Given the description of an element on the screen output the (x, y) to click on. 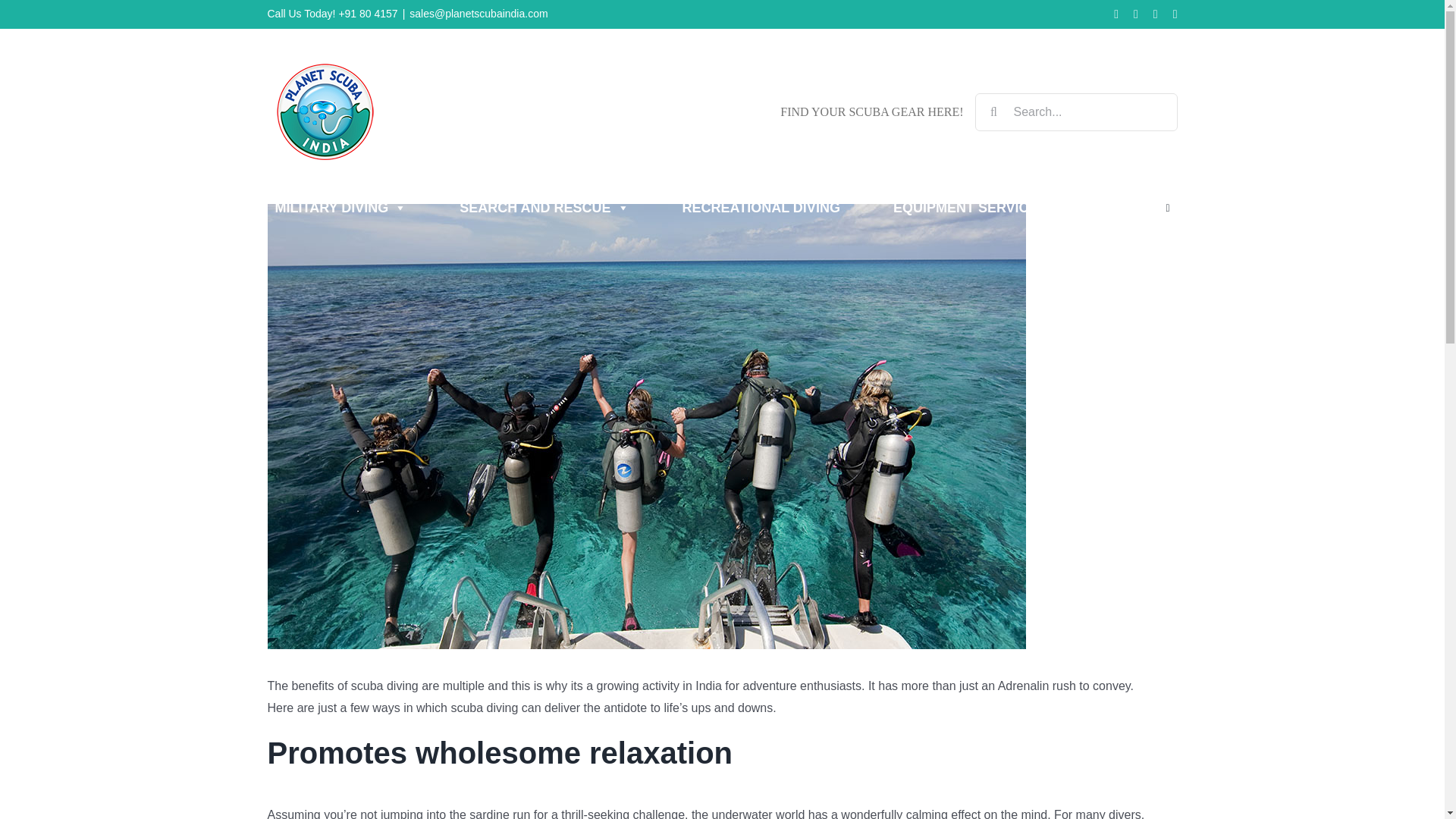
MILITARY DIVING (339, 207)
